Given the description of an element on the screen output the (x, y) to click on. 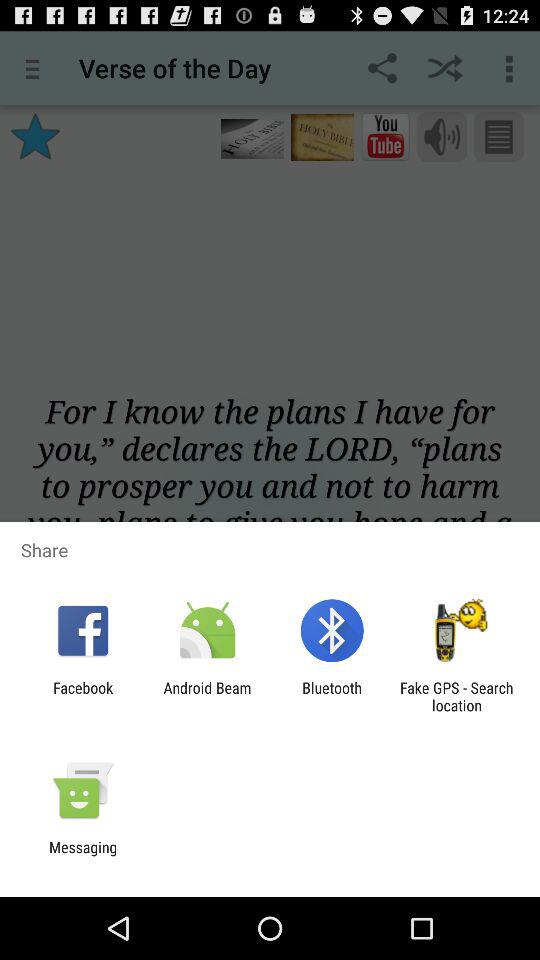
scroll to the fake gps search (456, 696)
